Given the description of an element on the screen output the (x, y) to click on. 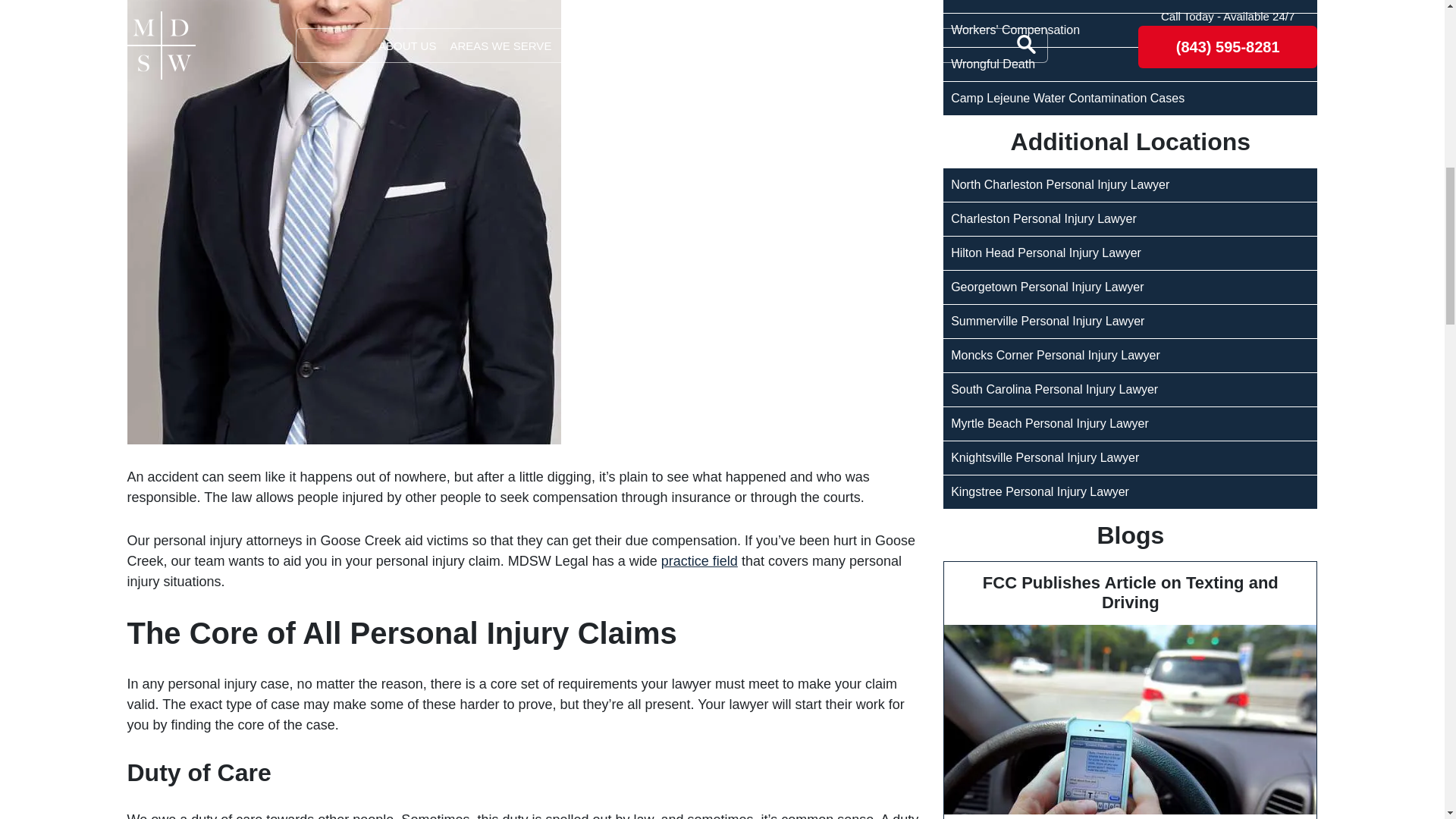
FCC Publishes Article on Texting and Driving (1130, 690)
FCC Publishes Article on Texting and Driving (1129, 719)
